Given the description of an element on the screen output the (x, y) to click on. 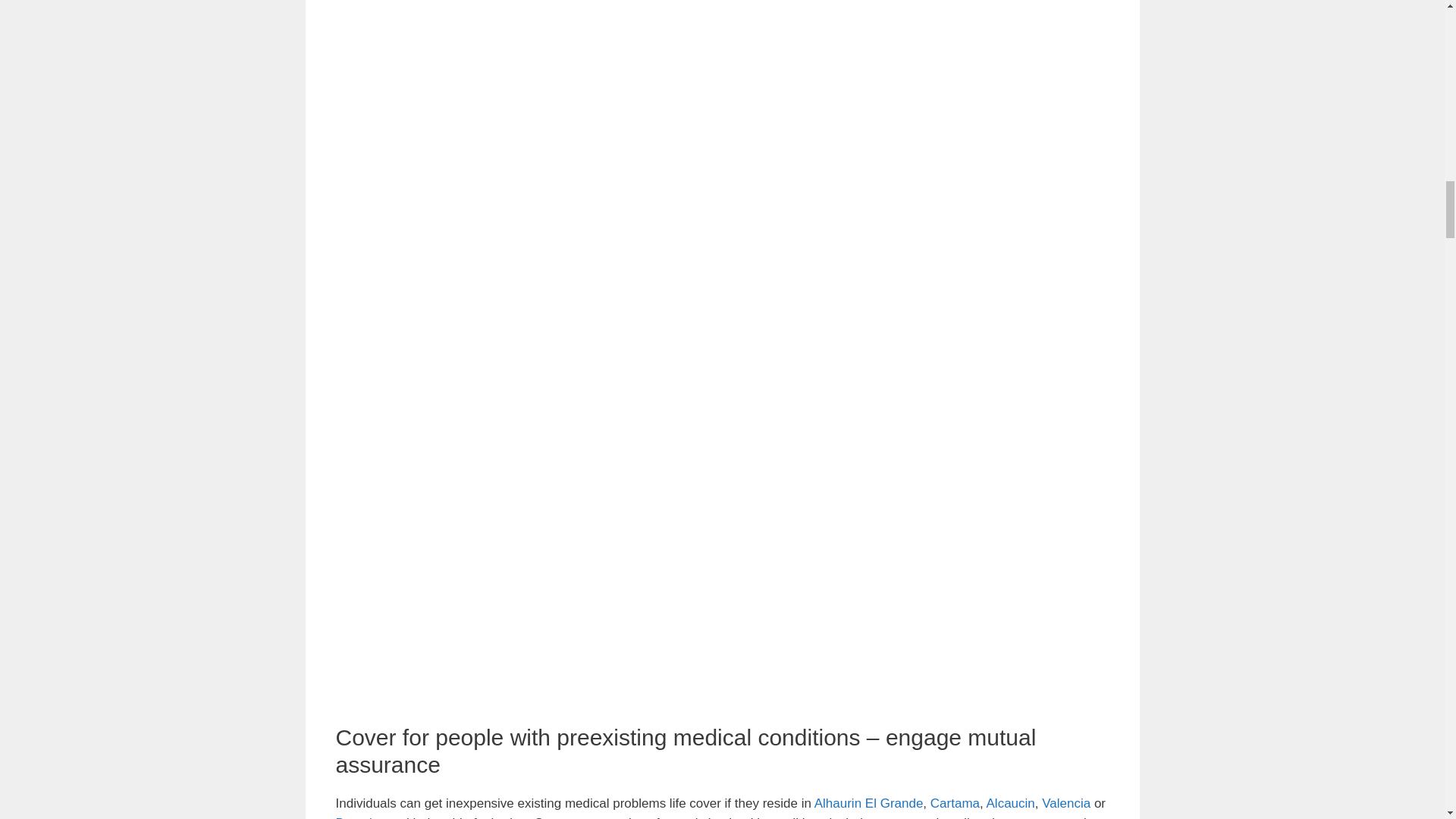
Alhaurin El Grande (868, 803)
Valencia (1066, 803)
Alcaucin (1011, 803)
Cartama (954, 803)
Barcelona (363, 817)
